Given the description of an element on the screen output the (x, y) to click on. 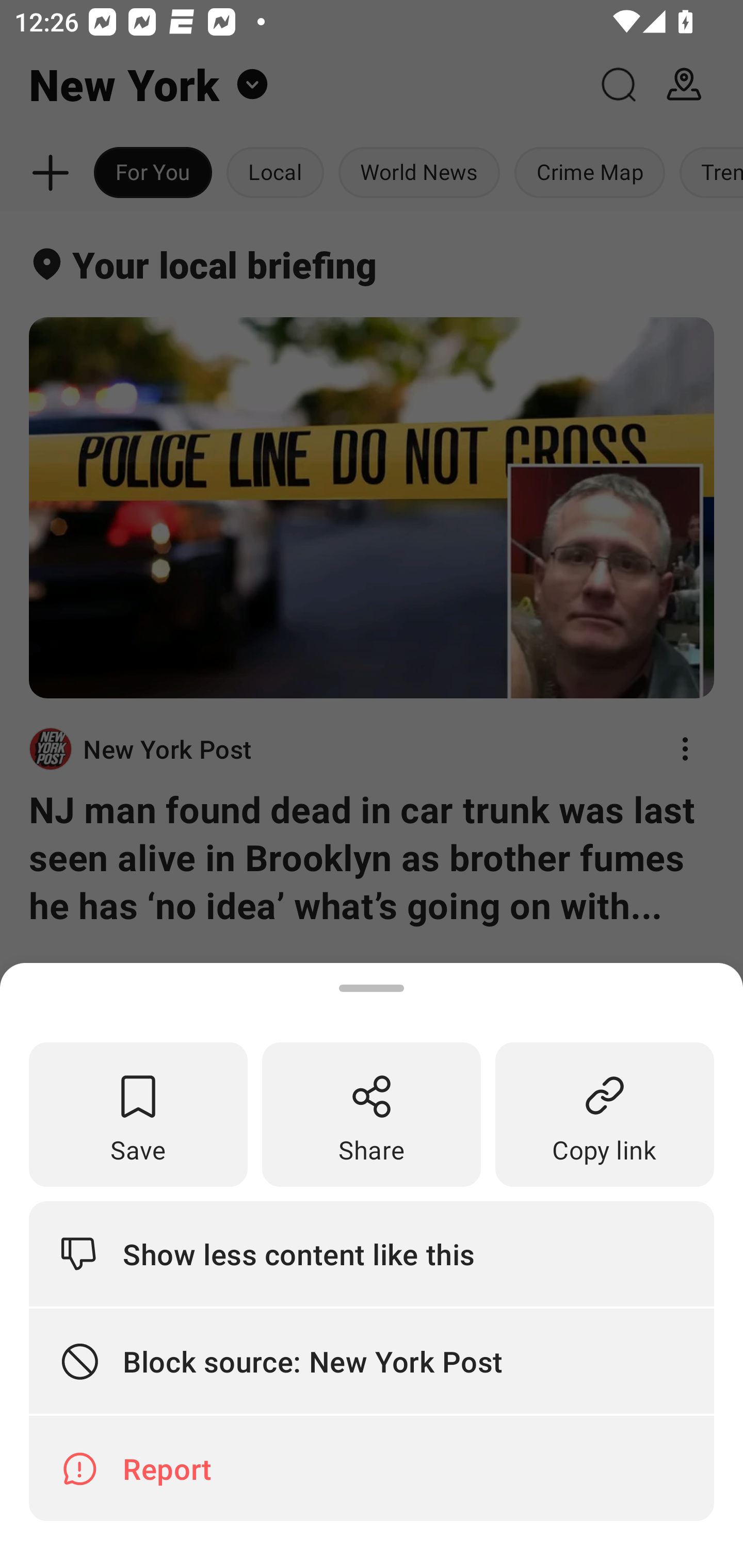
Save (137, 1114)
Share (371, 1114)
Copy link (604, 1114)
Show less content like this (371, 1253)
Block source: New York Post (371, 1361)
Report (371, 1467)
